Given the description of an element on the screen output the (x, y) to click on. 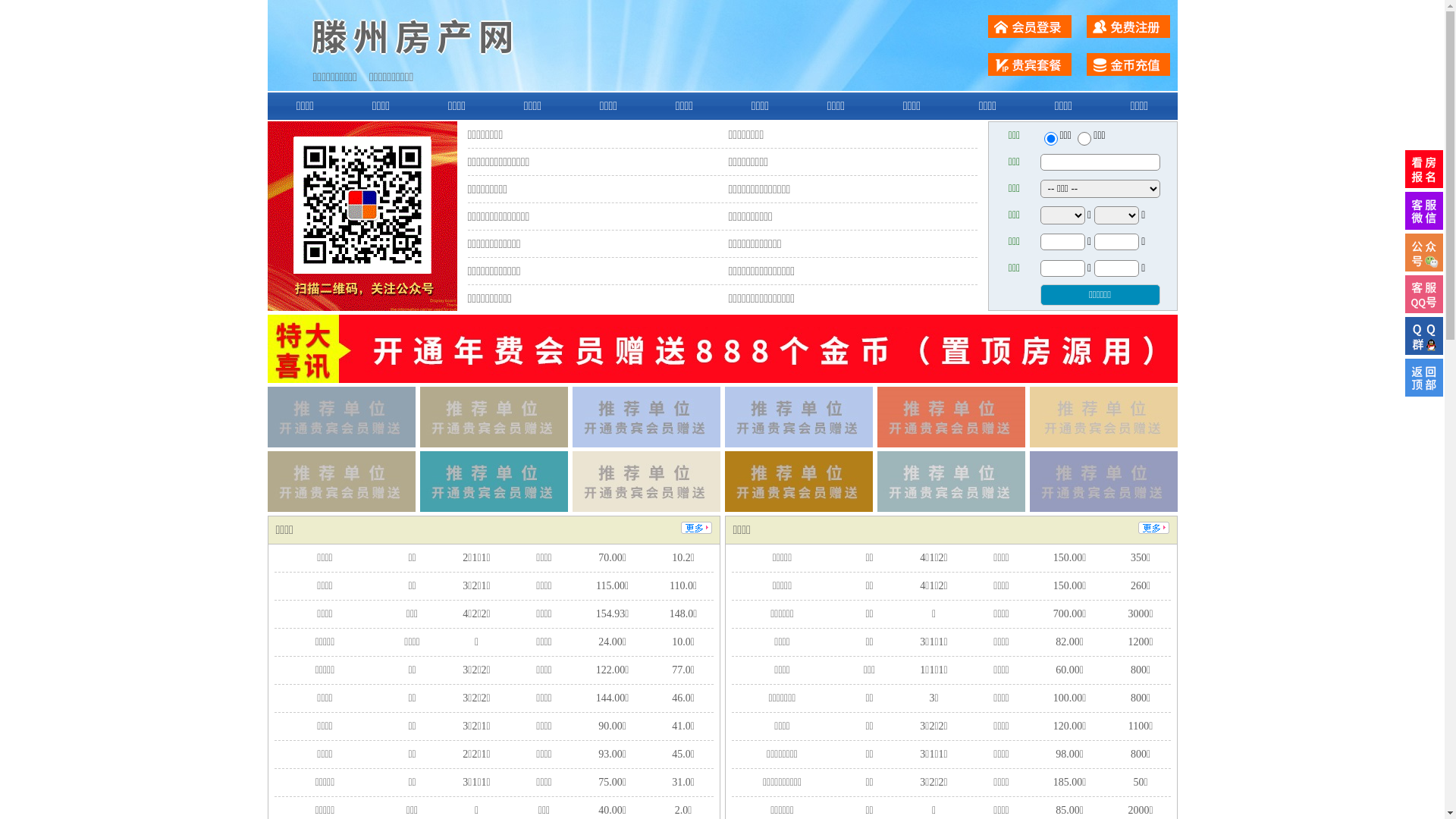
chuzu Element type: text (1084, 138)
ershou Element type: text (1050, 138)
